Given the description of an element on the screen output the (x, y) to click on. 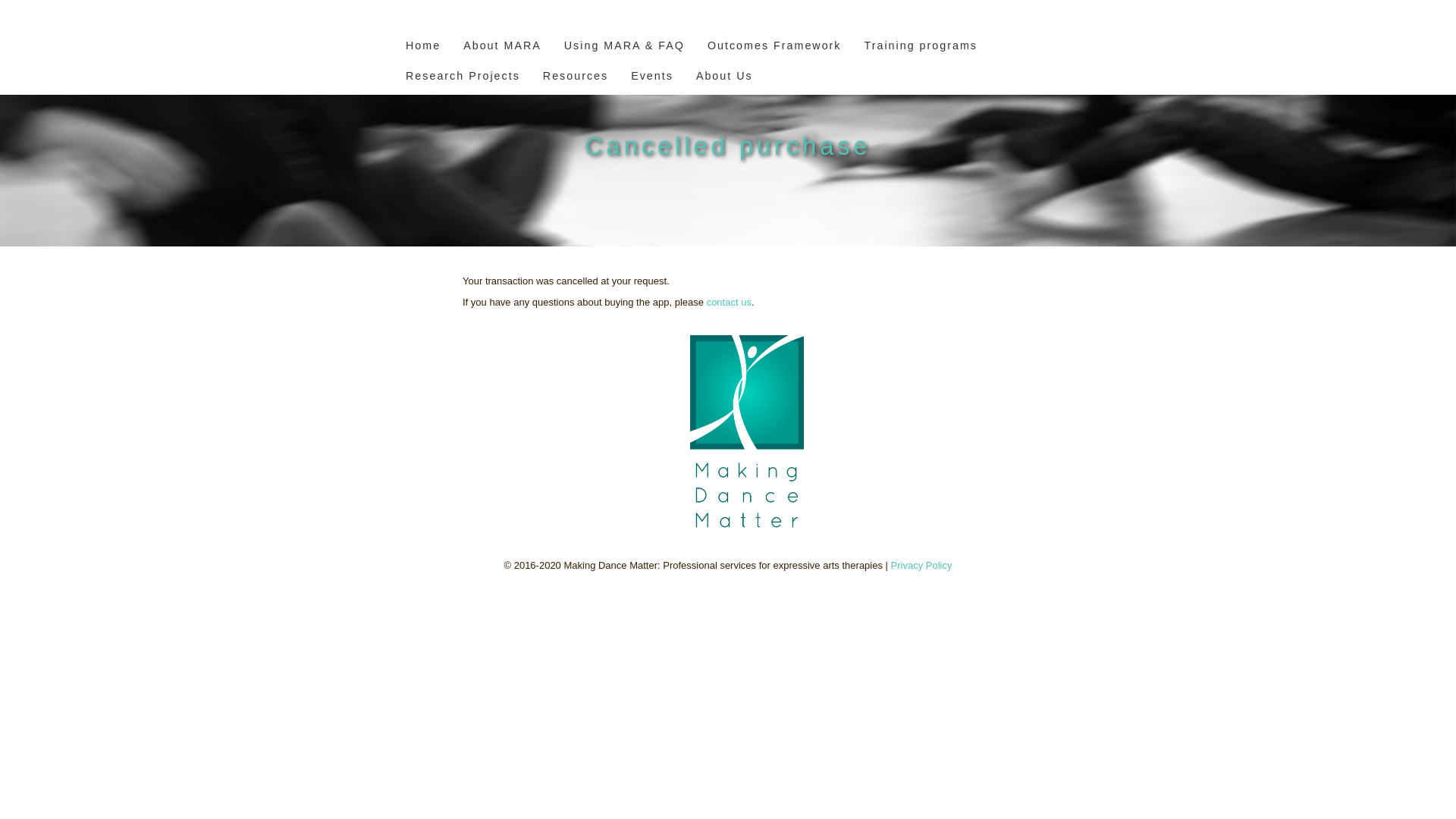
Events Element type: text (651, 79)
Research Projects Element type: text (462, 79)
Privacy Policy Element type: text (921, 565)
About MARA Element type: text (502, 49)
About Us Element type: text (724, 79)
contact us Element type: text (728, 301)
Training programs Element type: text (920, 49)
Home Element type: text (423, 49)
Resources Element type: text (575, 79)
Using MARA & FAQ Element type: text (624, 49)
Outcomes Framework Element type: text (774, 49)
